Given the description of an element on the screen output the (x, y) to click on. 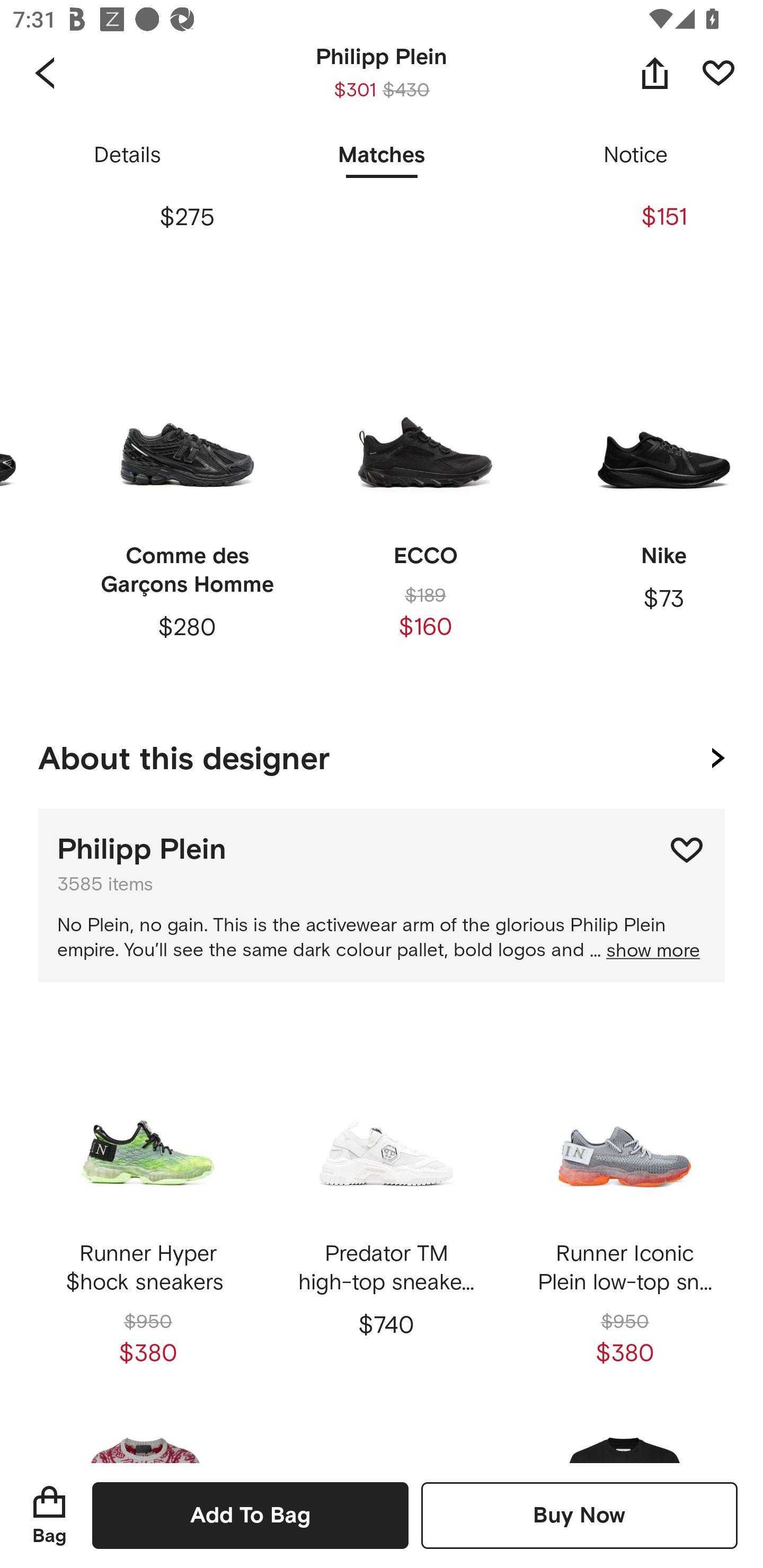
$275 (186, 145)
$209 (424, 145)
$151 (658, 145)
Comme des Garçons Homme $280 (186, 505)
ECCO $189 $160 (424, 505)
Nike $73 (658, 505)
About this designer (381, 754)
... show more (644, 951)
Runner Hyper $hock sneakers  $950 $380 (147, 1203)
Predator TM high-top sneakers  $740 (385, 1203)
Runner Iconic Plein low-top sneakers $950 $380 (624, 1203)
Bag (49, 1515)
Add To Bag (250, 1515)
Buy Now (579, 1515)
